Given the description of an element on the screen output the (x, y) to click on. 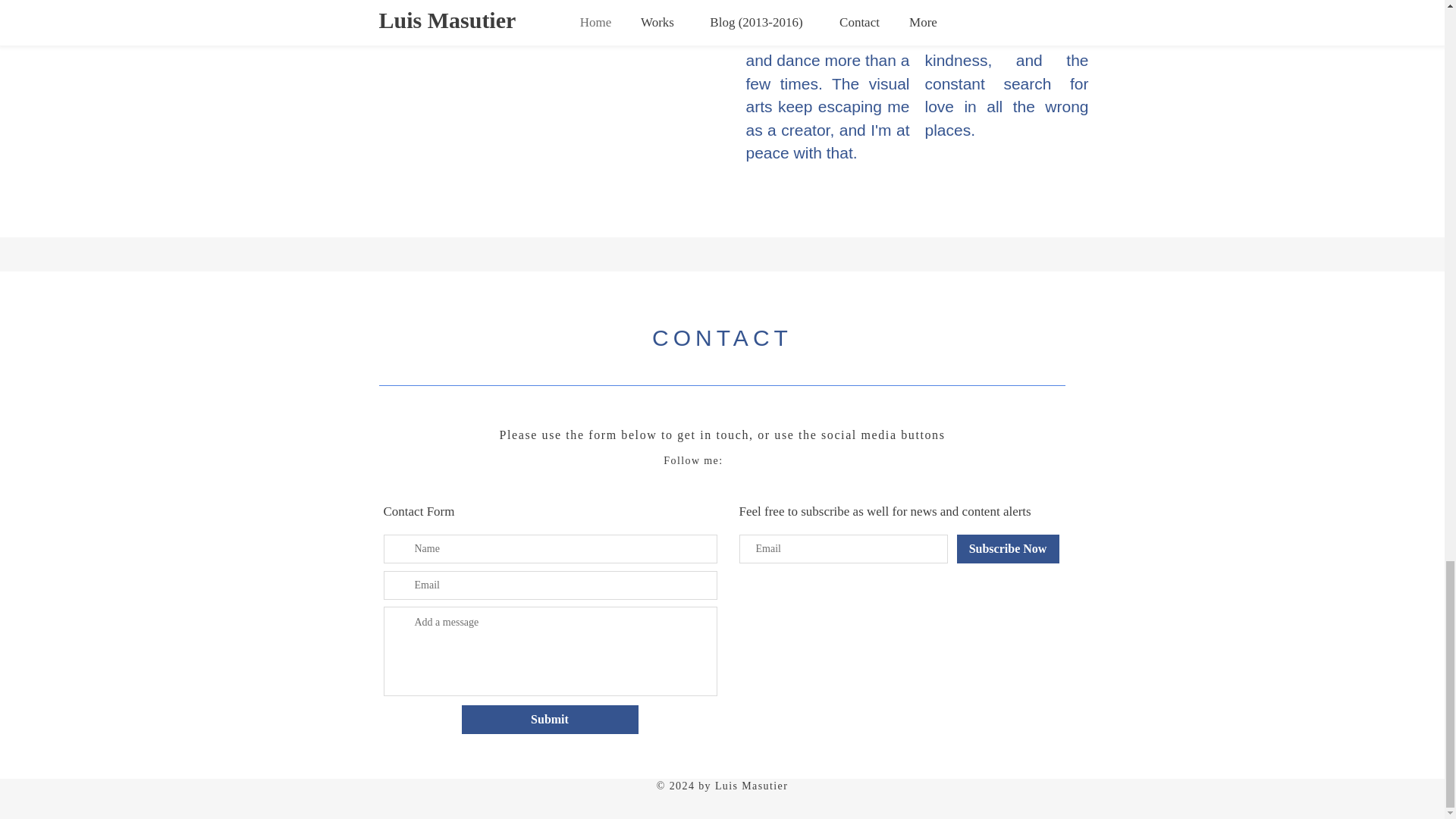
Submit (549, 719)
Subscribe Now (1007, 548)
